Given the description of an element on the screen output the (x, y) to click on. 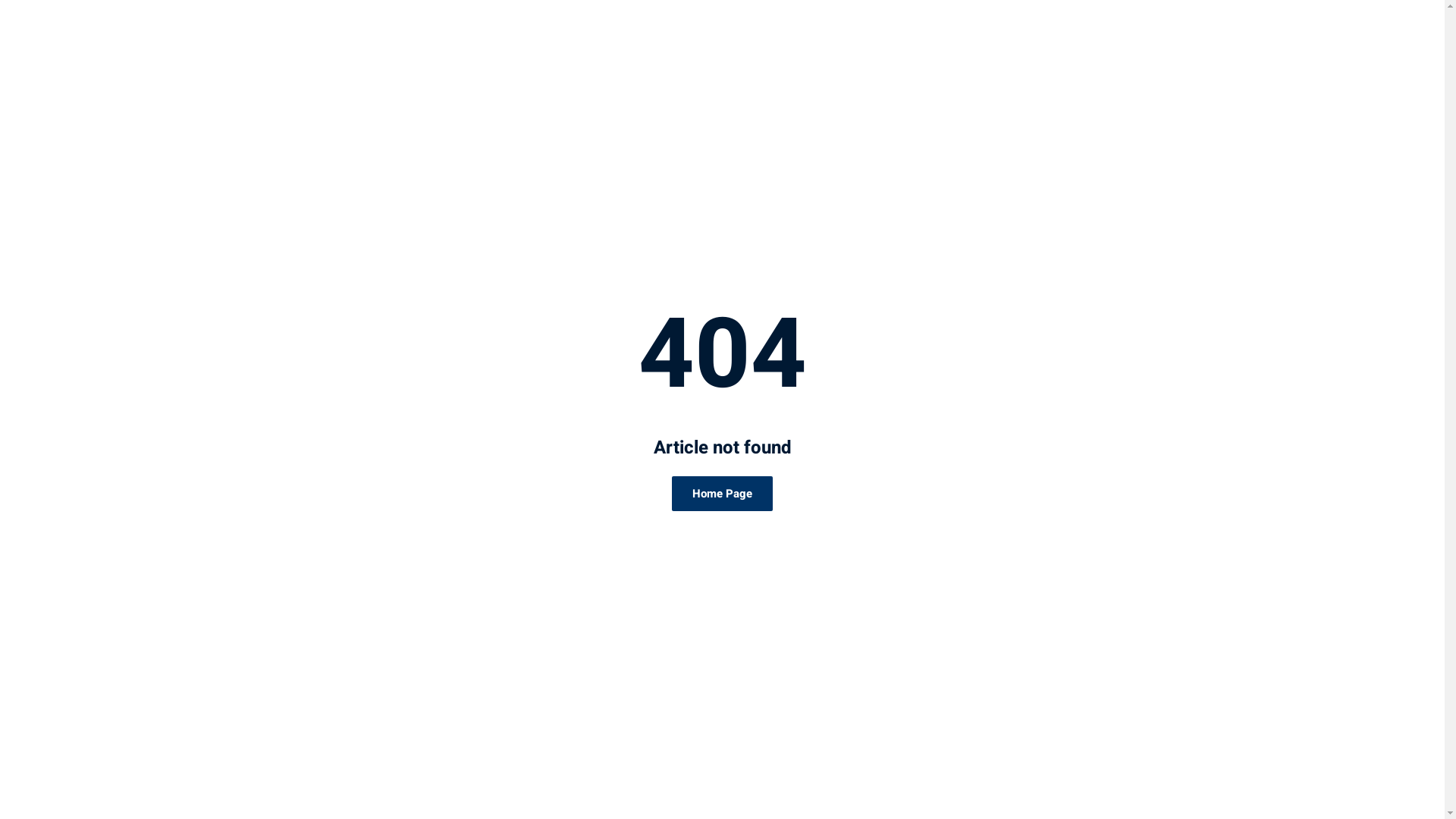
Home Page Element type: text (721, 493)
